Given the description of an element on the screen output the (x, y) to click on. 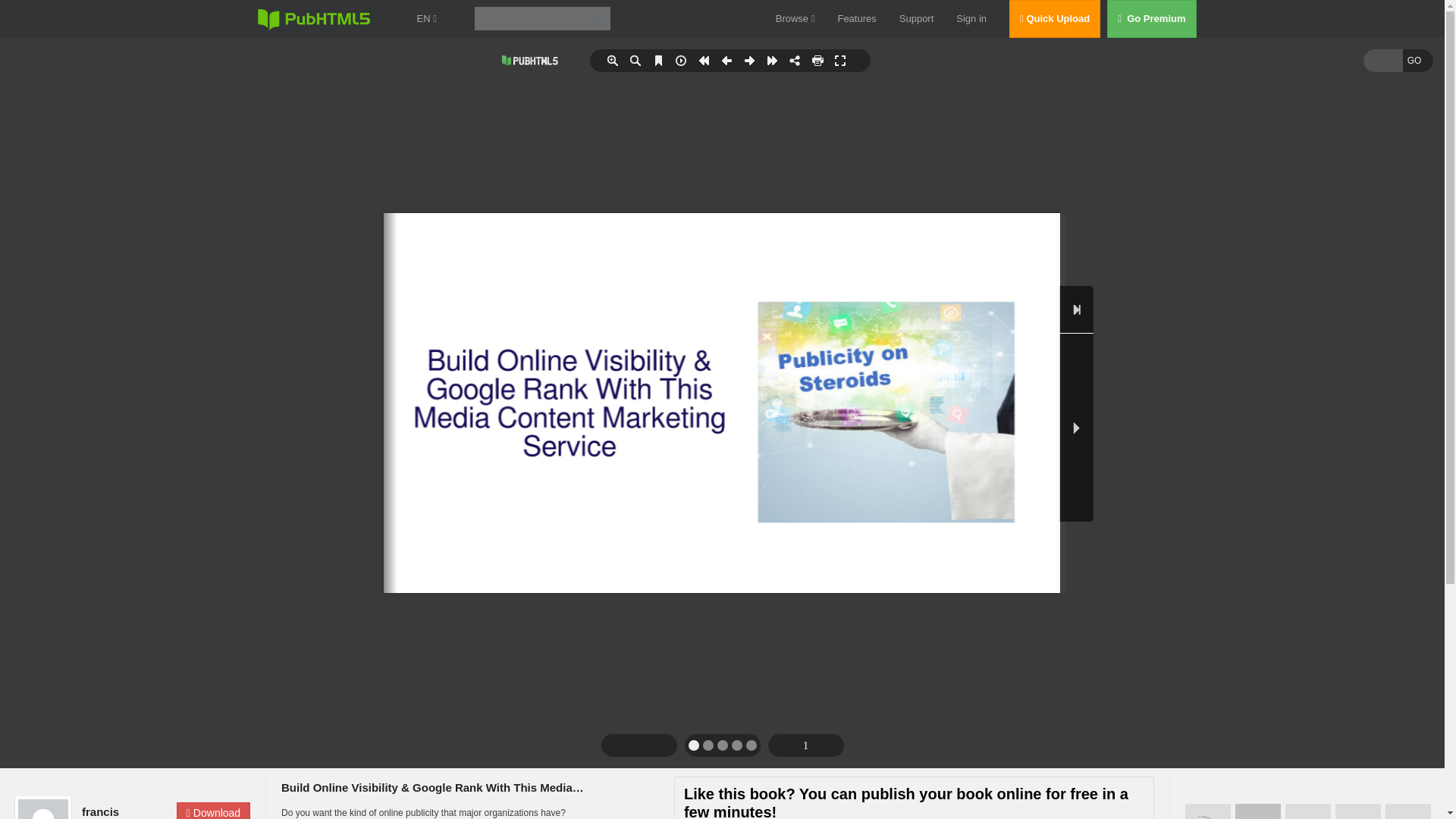
Browse (795, 18)
Support (916, 18)
 Go Premium (1158, 18)
francis (124, 811)
Embed this book (1357, 811)
Download this PDF file (213, 810)
Convert your own PDF file to online flipbook (1257, 811)
EN (426, 18)
Share this book (1408, 811)
francis (124, 811)
Add to my favorites (1307, 811)
Features (856, 18)
